Given the description of an element on the screen output the (x, y) to click on. 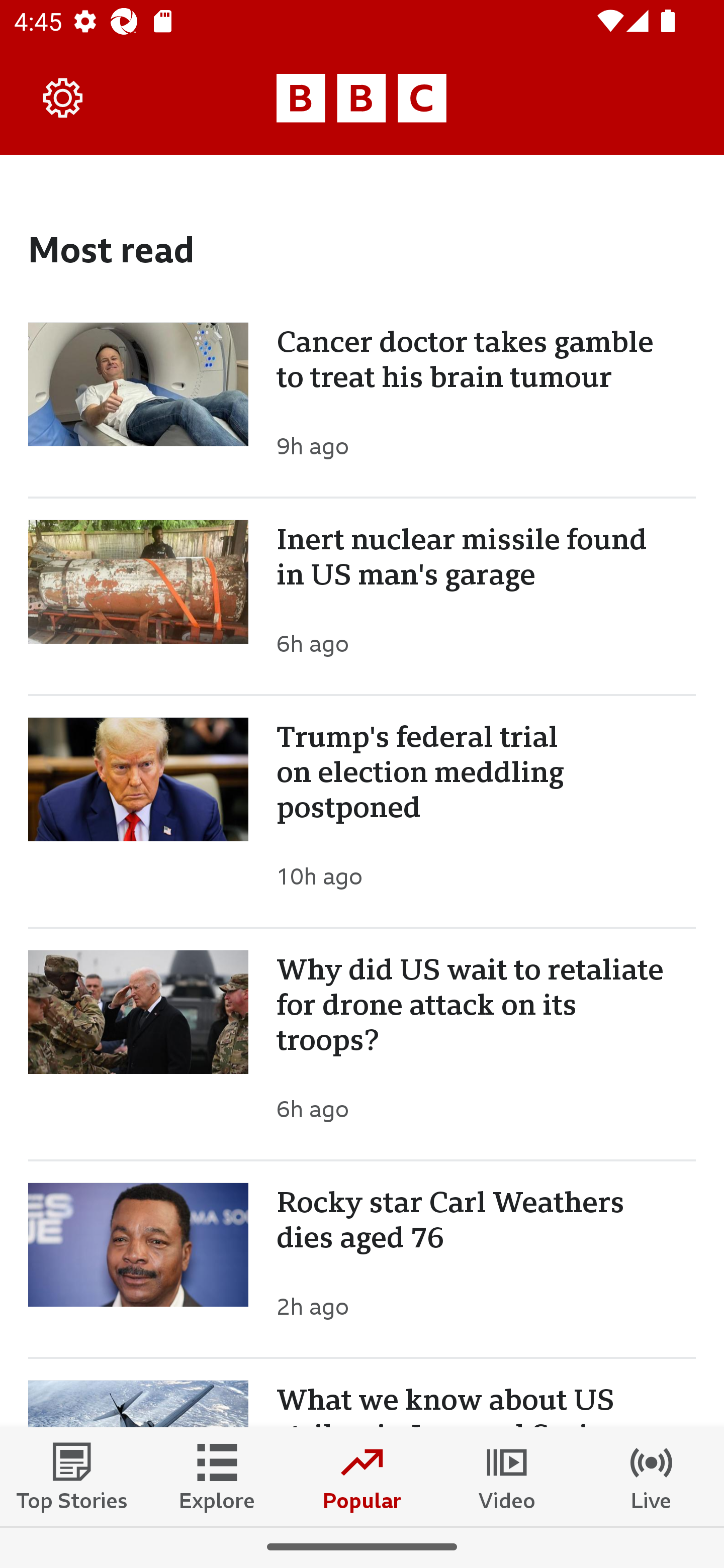
Settings (63, 97)
Top Stories (72, 1475)
Explore (216, 1475)
Video (506, 1475)
Live (651, 1475)
